Given the description of an element on the screen output the (x, y) to click on. 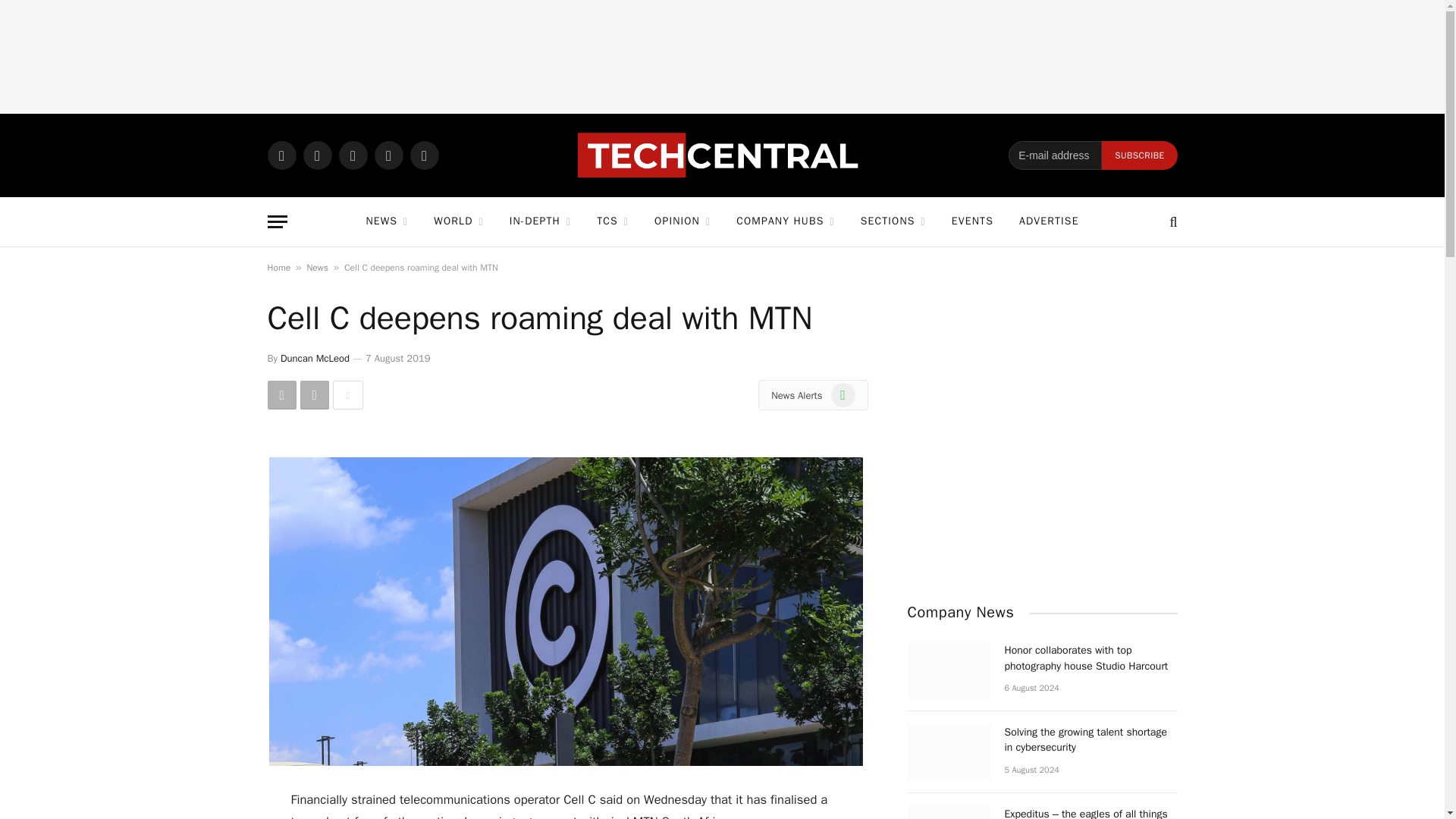
WORLD (458, 221)
Subscribe (1139, 154)
NEWS (386, 221)
LinkedIn (388, 154)
YouTube (423, 154)
WhatsApp (280, 154)
Subscribe (1139, 154)
TechCentral (722, 155)
Facebook (316, 154)
IN-DEPTH (539, 221)
